Given the description of an element on the screen output the (x, y) to click on. 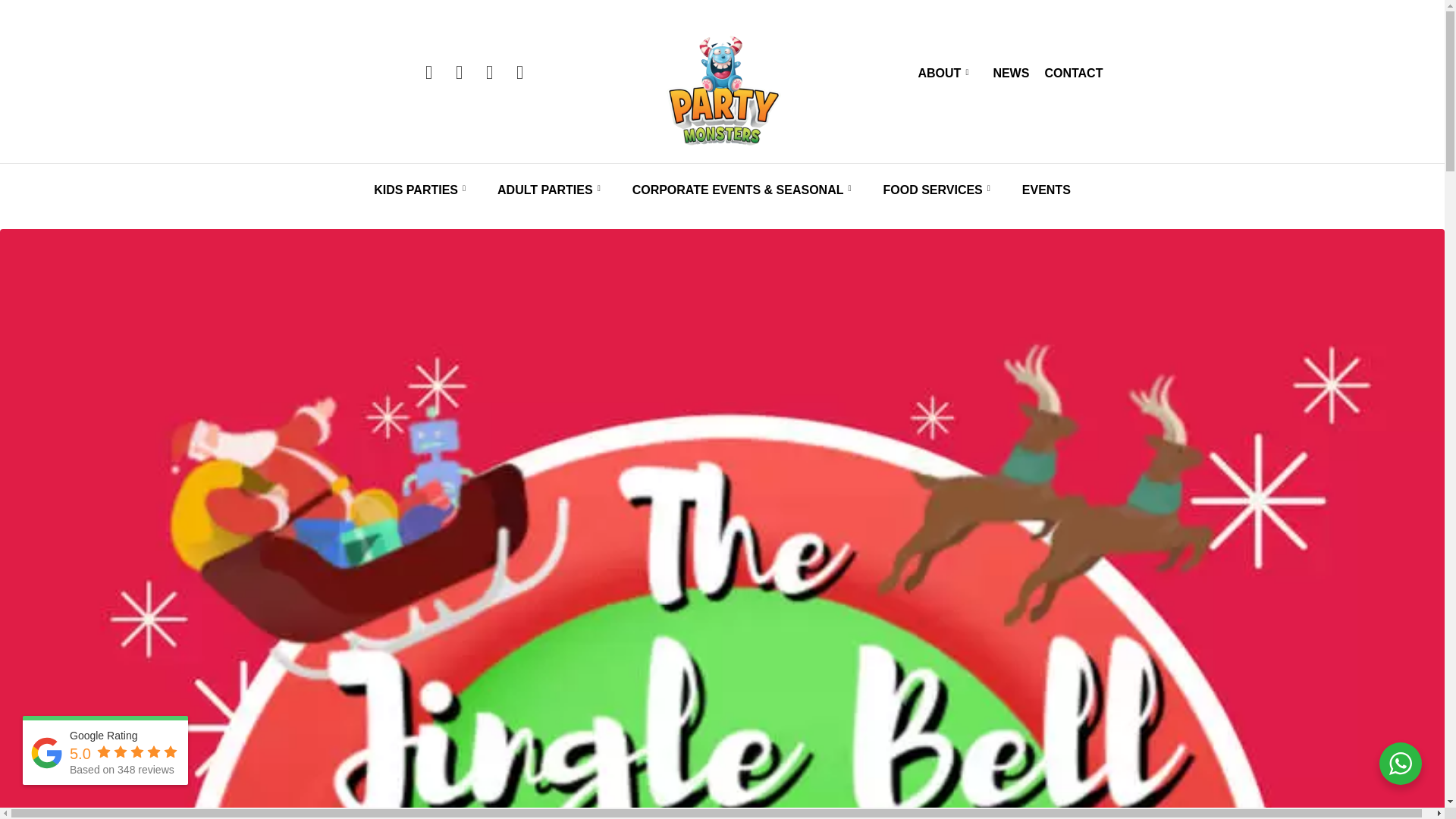
ABOUT (947, 73)
CONTACT (1072, 73)
NEWS (1010, 73)
KIDS PARTIES (424, 190)
ADULT PARTIES (553, 190)
